Given the description of an element on the screen output the (x, y) to click on. 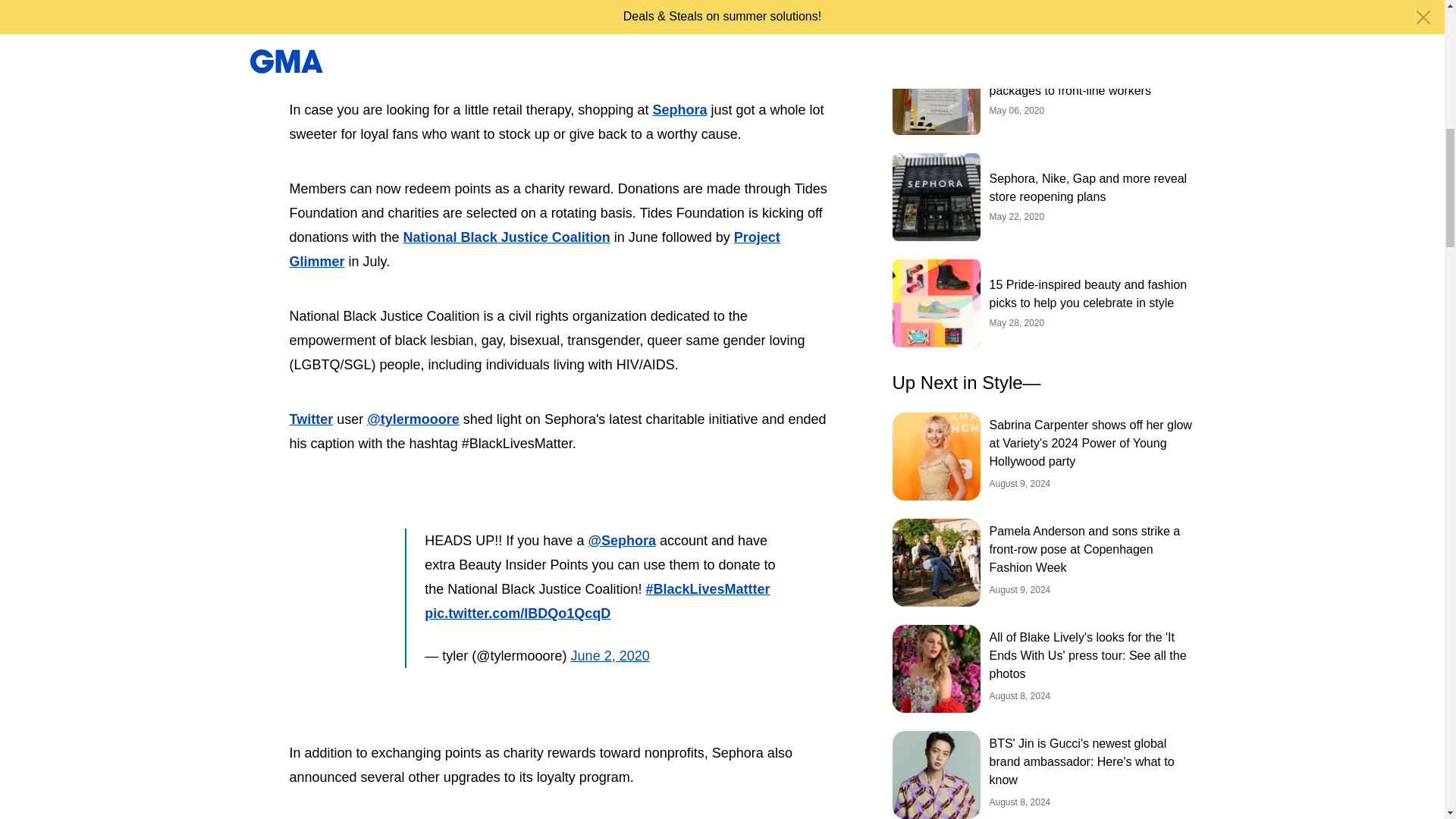
Zoe Moore (360, 33)
Jacqueline Laurean Yates (368, 13)
Sephora (679, 109)
